Given the description of an element on the screen output the (x, y) to click on. 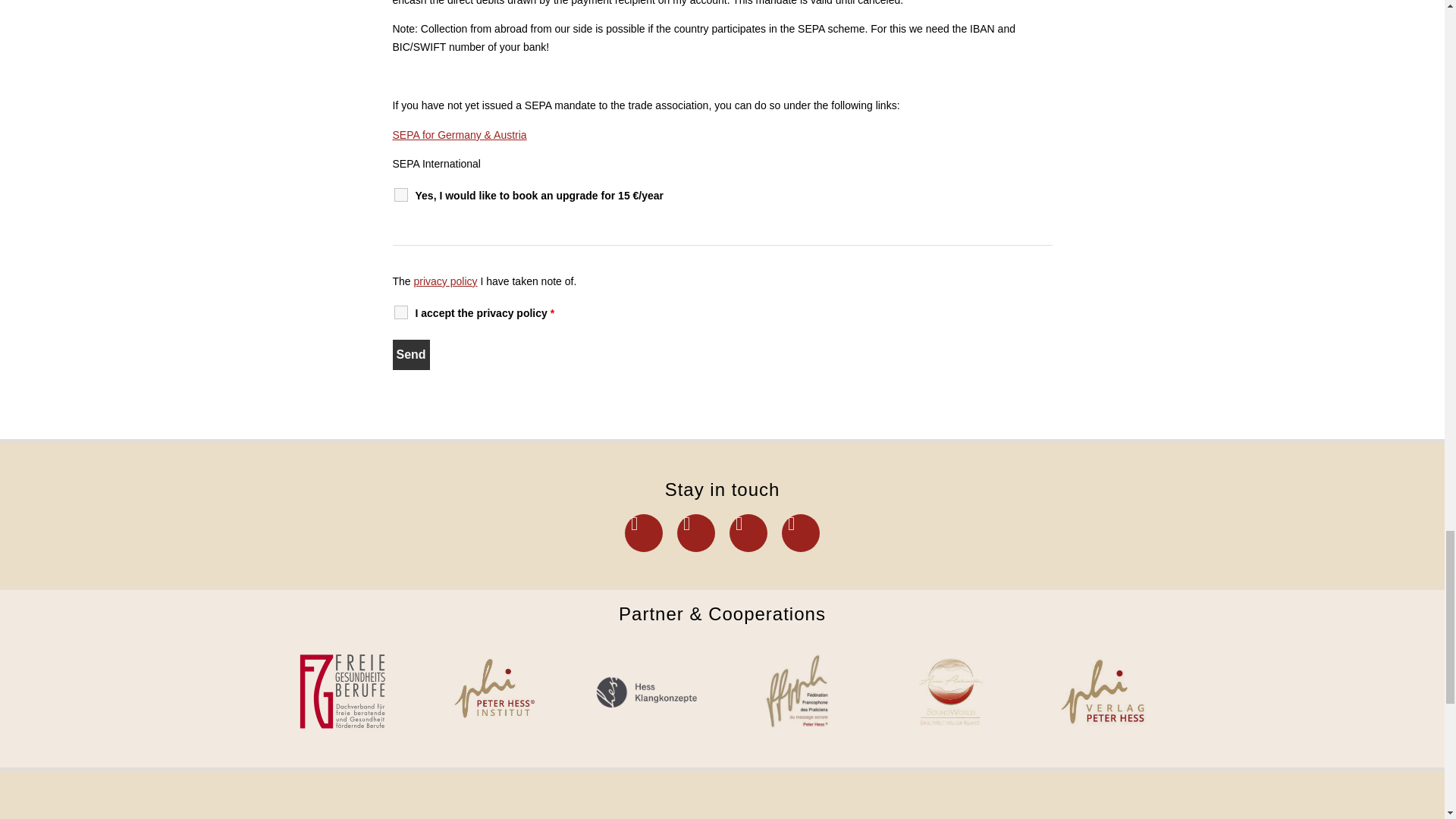
Send (411, 354)
